Given the description of an element on the screen output the (x, y) to click on. 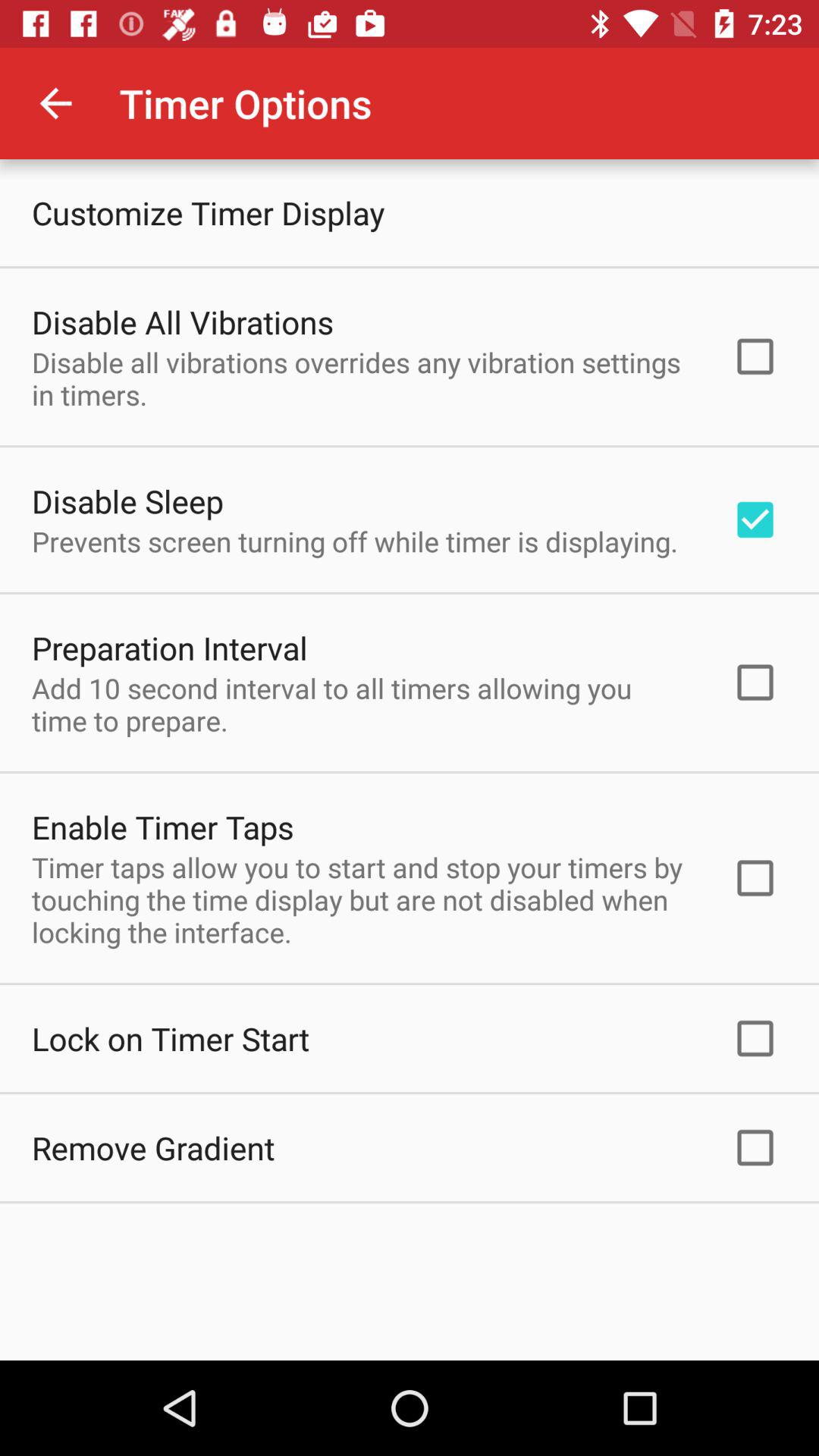
turn off the item below preparation interval (361, 704)
